Given the description of an element on the screen output the (x, y) to click on. 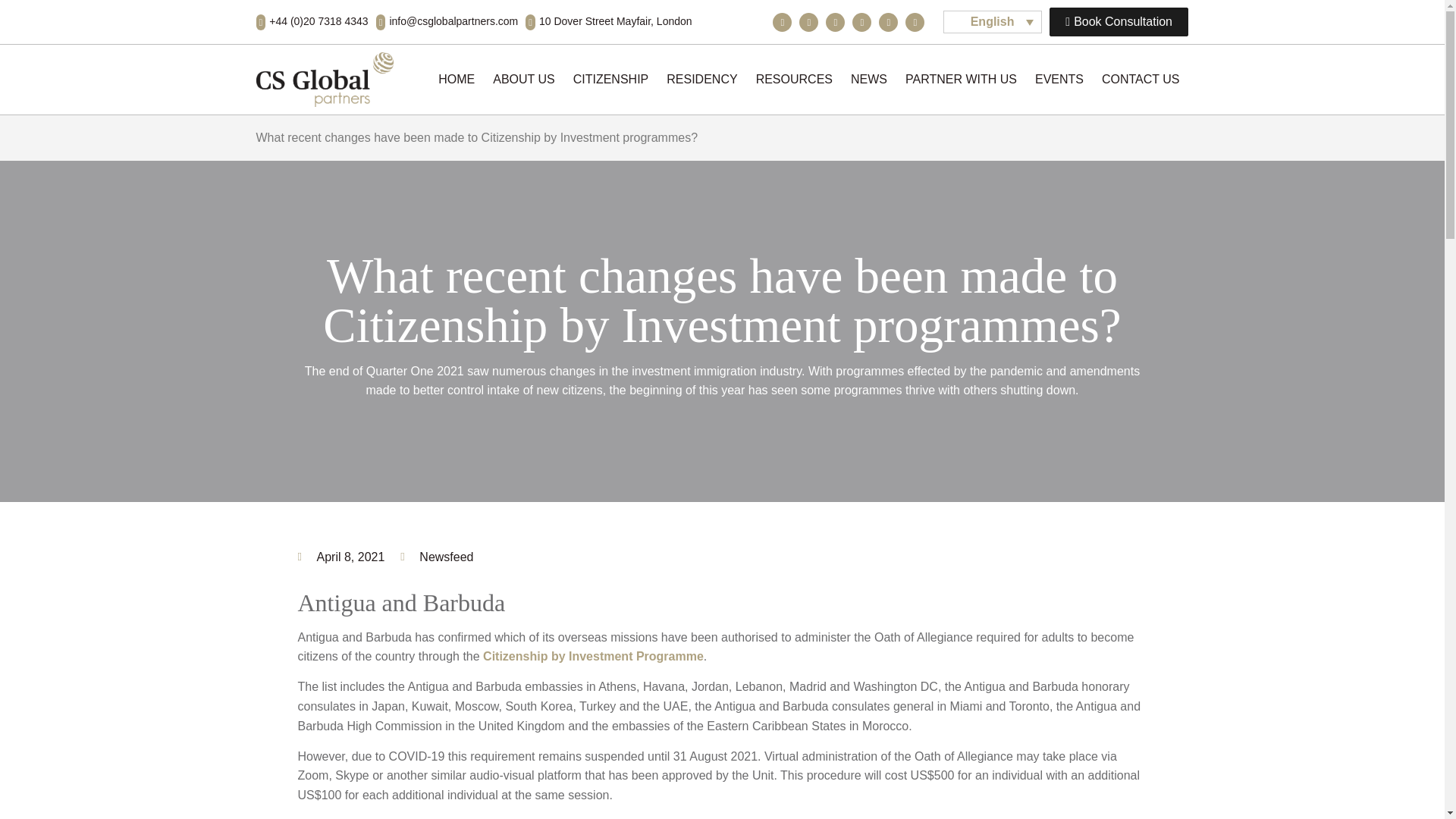
RESIDENCY (701, 79)
10 Dover Street Mayfair, London (608, 21)
ABOUT US (523, 79)
CITIZENSHIP (611, 79)
English (992, 21)
Book Consultation (1118, 21)
RESOURCES (793, 79)
HOME (456, 79)
